Given the description of an element on the screen output the (x, y) to click on. 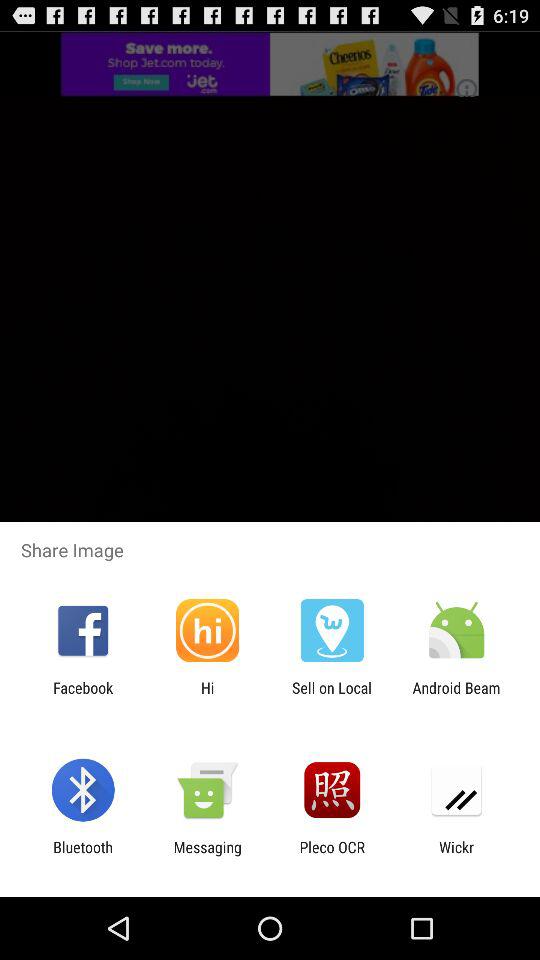
choose app to the left of pleco ocr icon (207, 856)
